Given the description of an element on the screen output the (x, y) to click on. 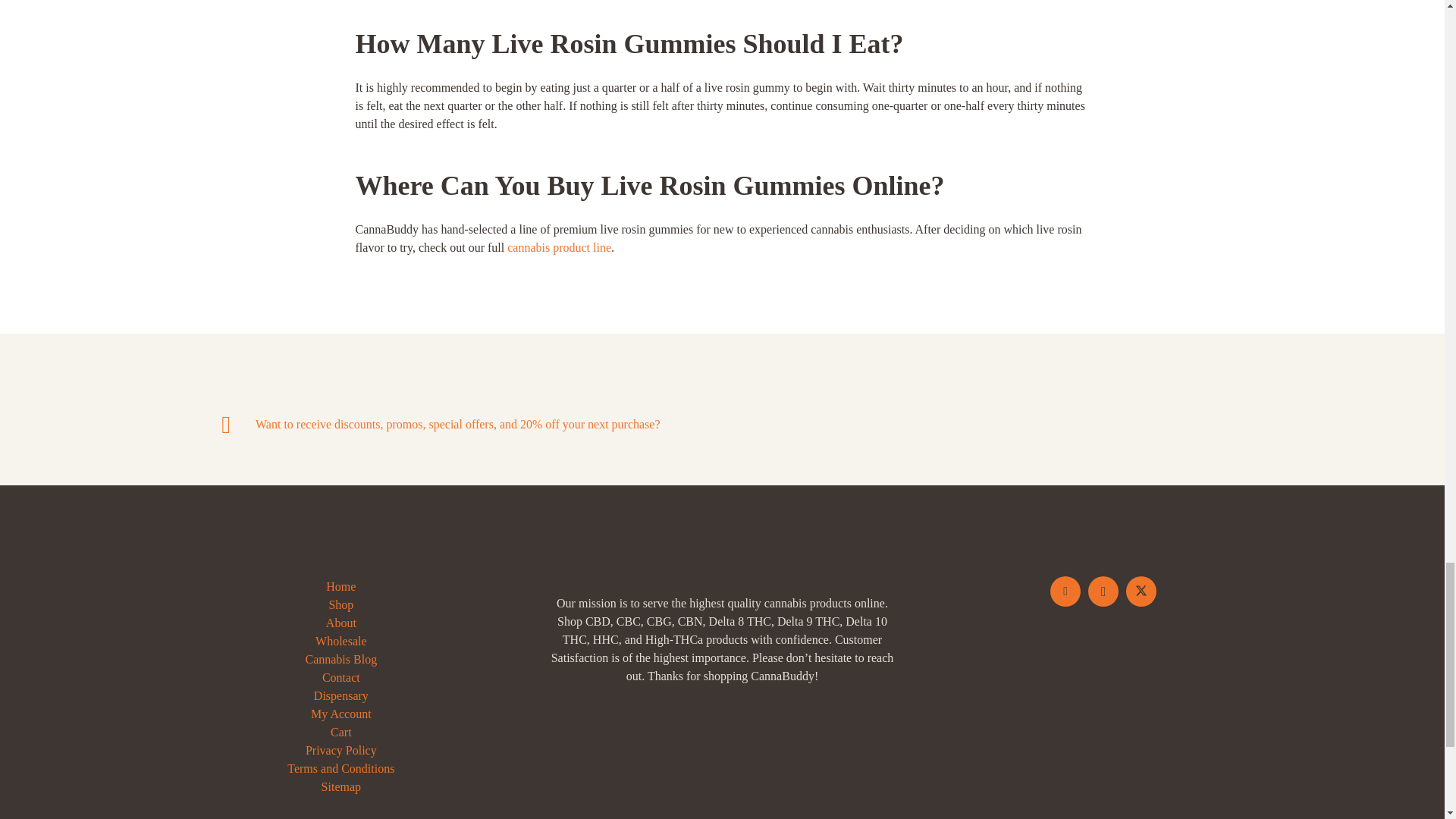
Instagram (1102, 591)
Facebook (1064, 591)
Twitter (1140, 591)
